Given the description of an element on the screen output the (x, y) to click on. 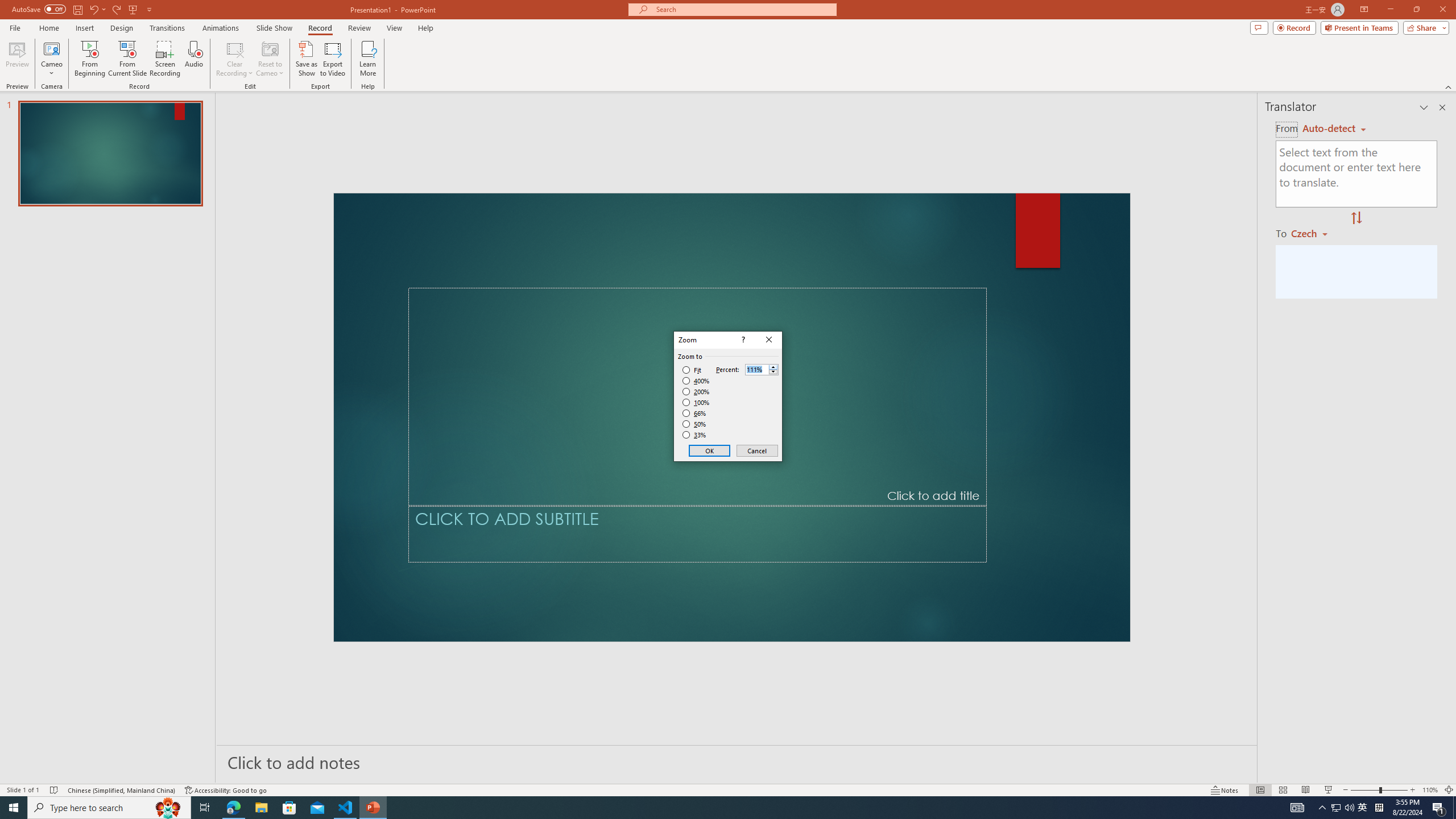
Minimize (1353, 18)
Last (828, 72)
Greeting Line... (473, 92)
Read Mode (1219, 773)
AutomationID: DynamicSearchBoxGleamImage (647, 800)
Page 1 content (745, 486)
Undo Click and Type Formatting (165, 18)
Insert (191, 47)
Print Layout (1254, 773)
Share (1426, 47)
Select Recipients (240, 92)
Preview Results (684, 92)
